Given the description of an element on the screen output the (x, y) to click on. 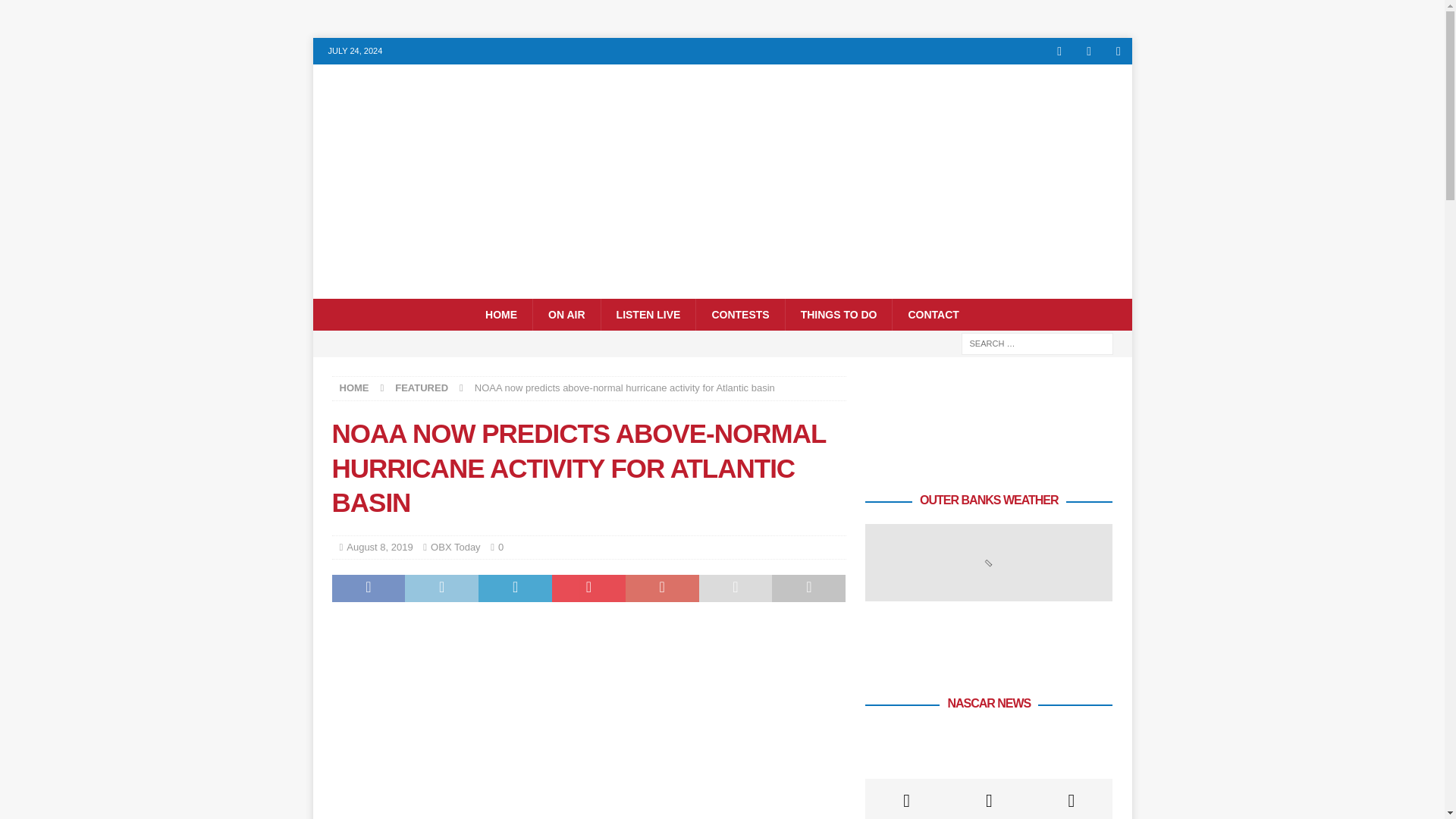
0 (500, 546)
FEATURED (421, 387)
Search (56, 11)
BIG 94.5 WCMS (722, 290)
OBX Today (455, 546)
August 8, 2019 (379, 546)
LISTEN LIVE (647, 314)
HOME (354, 387)
HOME (501, 314)
CONTESTS (739, 314)
THINGS TO DO (838, 314)
CONTACT (932, 314)
ON AIR (565, 314)
